Given the description of an element on the screen output the (x, y) to click on. 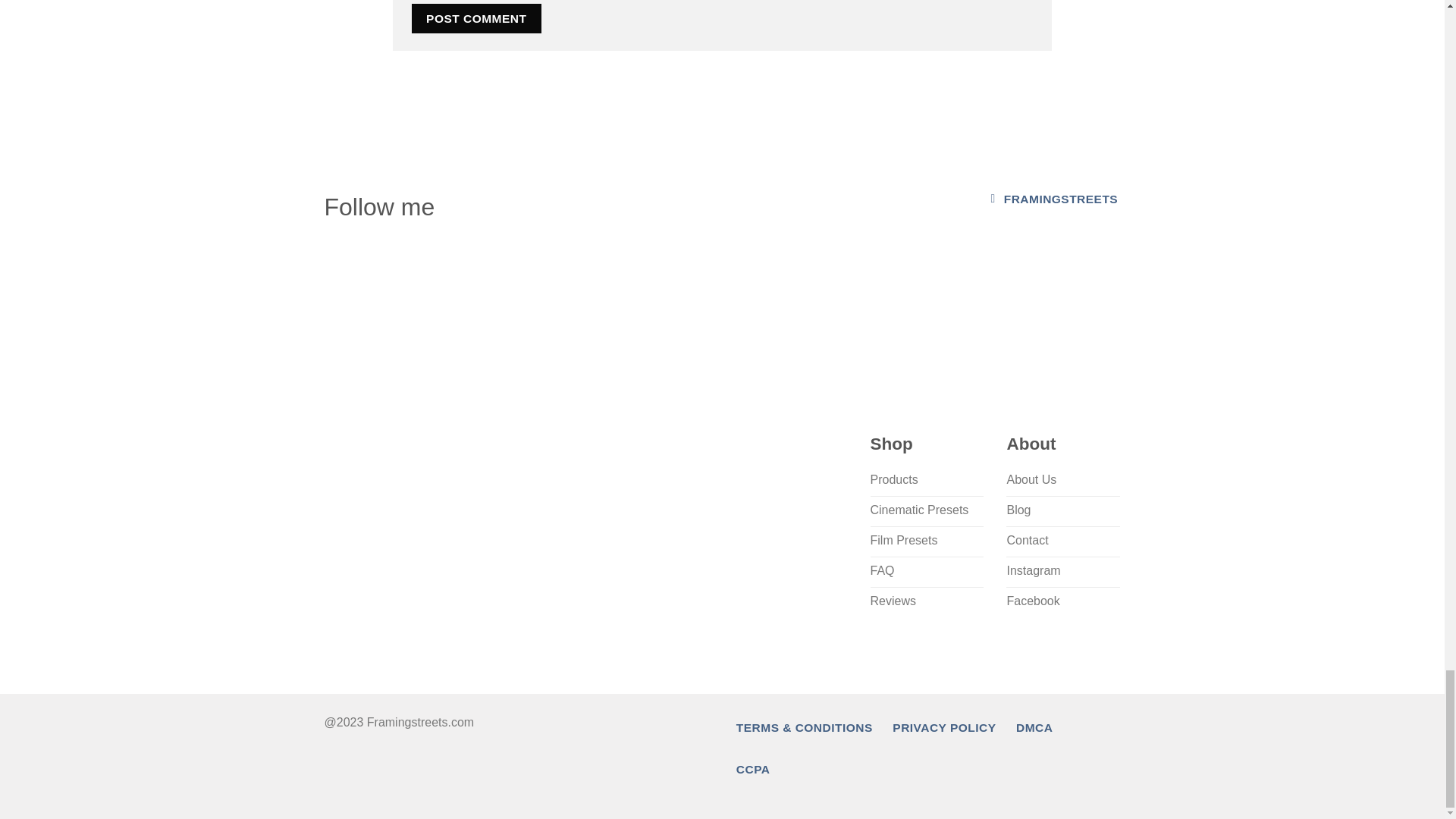
Post Comment (475, 18)
